Given the description of an element on the screen output the (x, y) to click on. 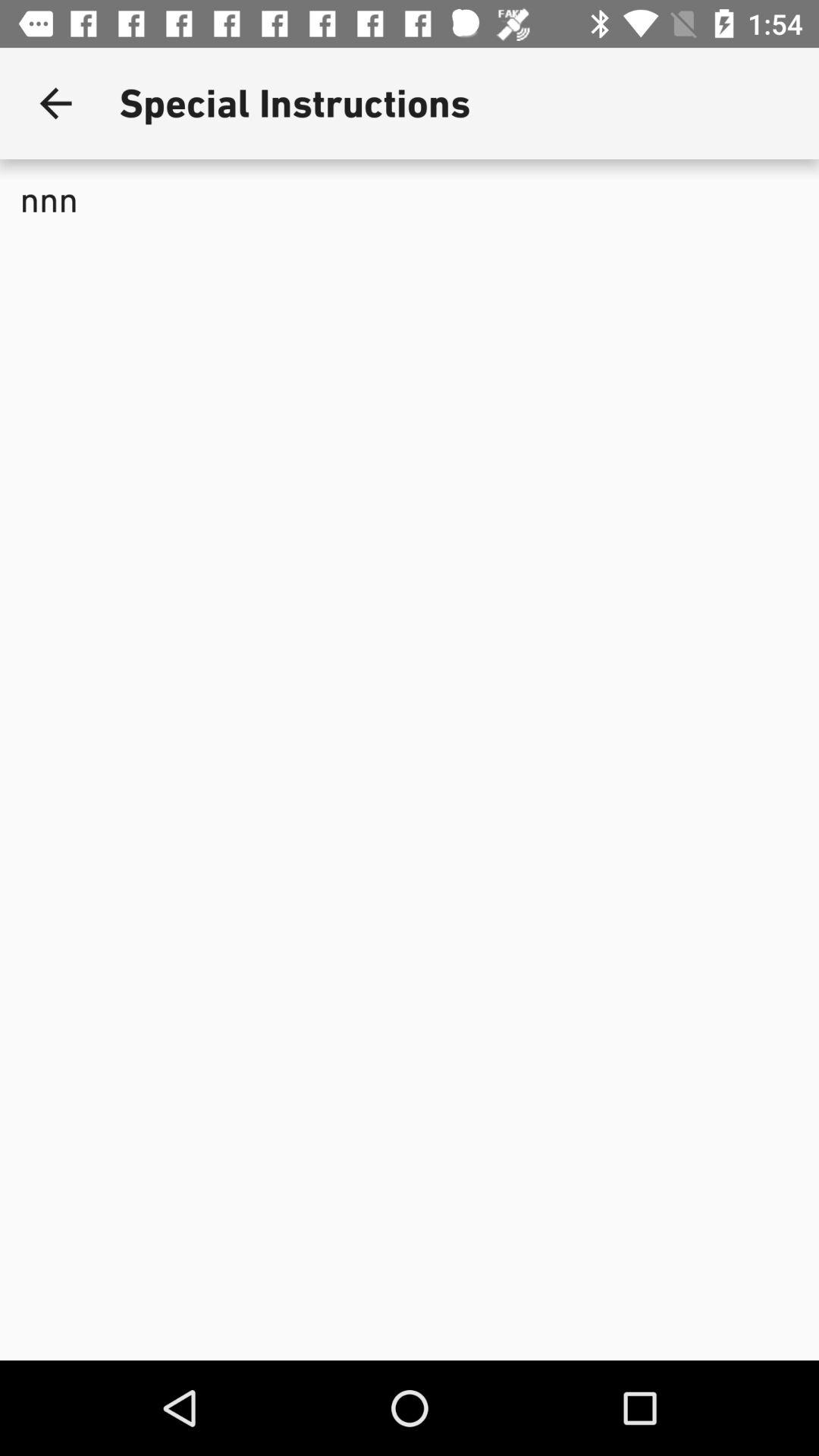
jump until nnn item (409, 307)
